Given the description of an element on the screen output the (x, y) to click on. 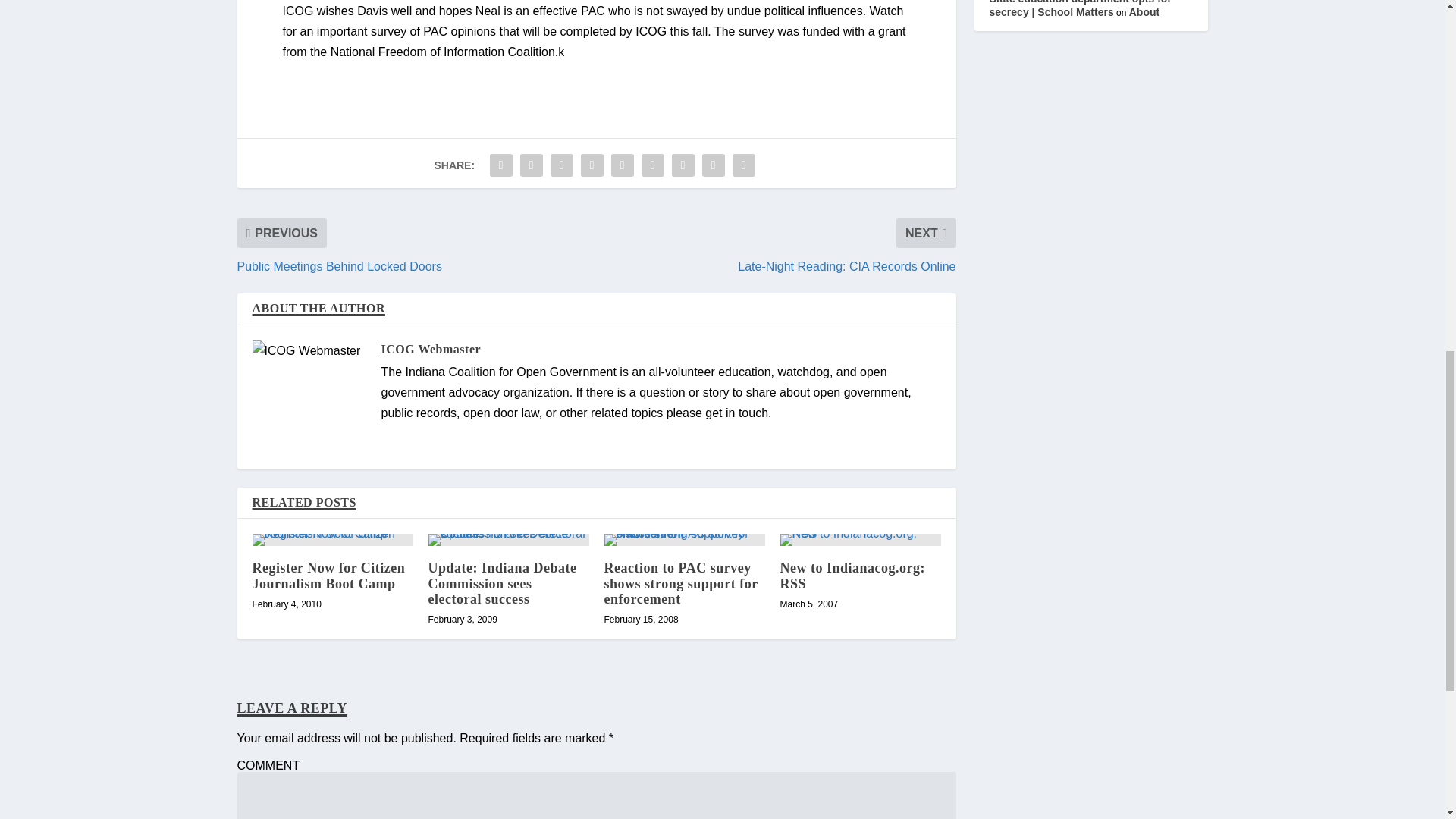
ICOG Webmaster (430, 349)
Register Now for Citizen Journalism Boot Camp (327, 575)
Update: Indiana Debate Commission sees electoral success (502, 583)
View all posts by ICOG Webmaster (430, 349)
Reaction to PAC survey shows strong support for enforcement (680, 583)
New to Indianacog.org: RSS (851, 575)
